Given the description of an element on the screen output the (x, y) to click on. 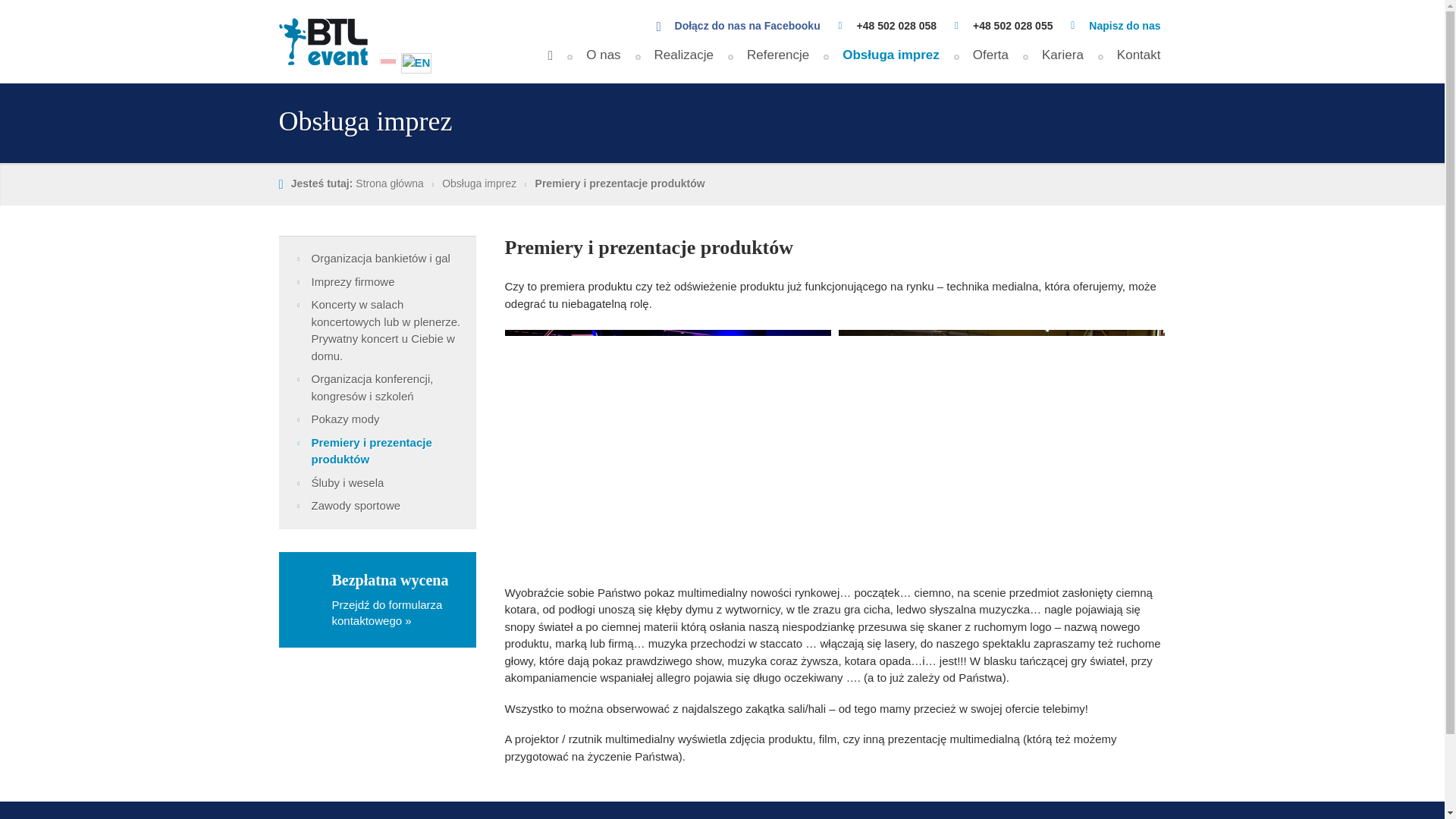
Oferta (990, 60)
Kariera (1062, 60)
Kontakt (1138, 60)
Realizacje (683, 60)
Imprezy firmowe (377, 282)
O nas (603, 60)
Napisz do nas (1124, 25)
Referencje (777, 60)
